Given the description of an element on the screen output the (x, y) to click on. 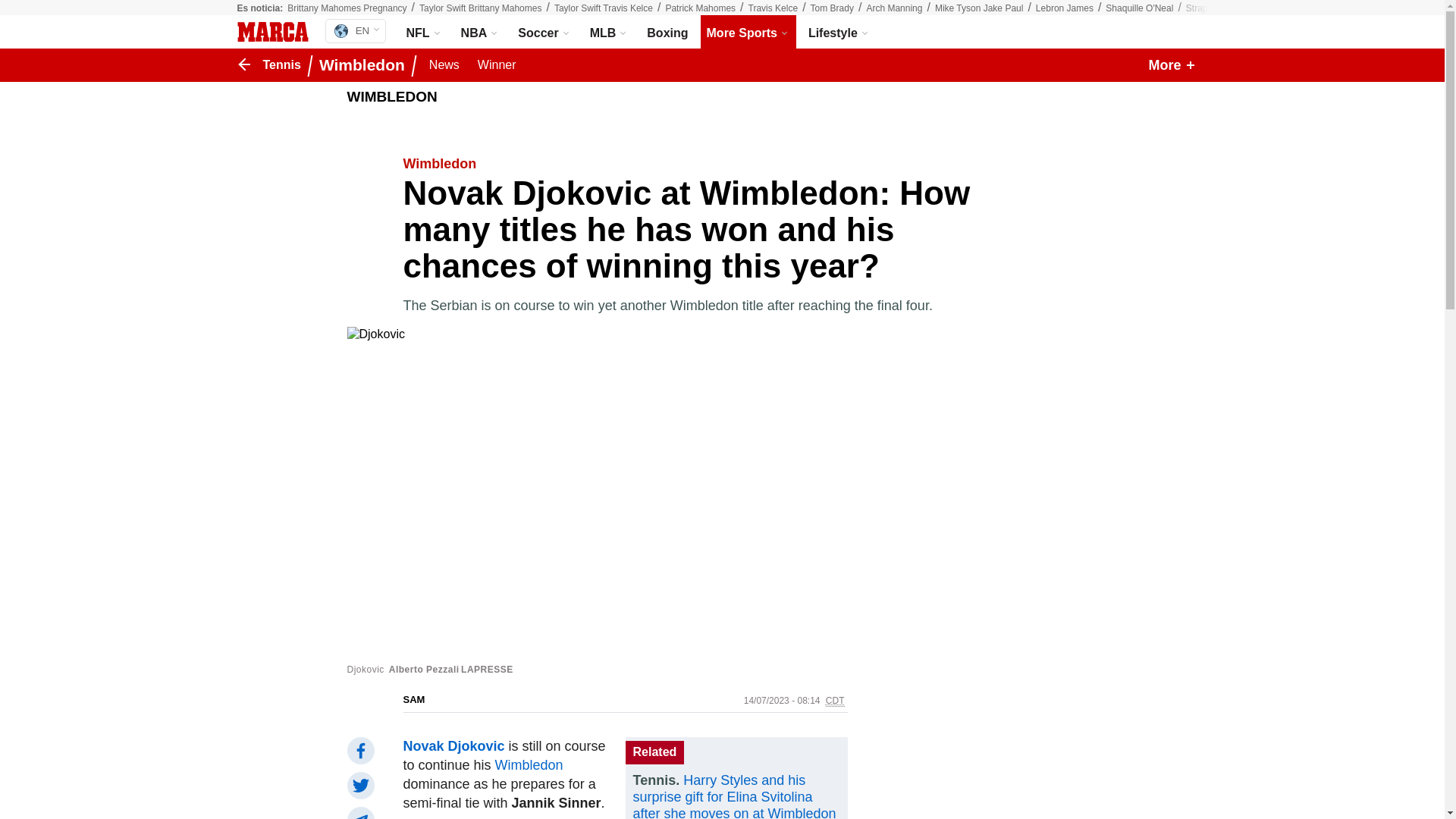
More Sports (748, 31)
Brittany Mahomes Pregnancy (346, 8)
NFL (424, 31)
Travis Kelce (772, 8)
Lebron James (1064, 8)
Shaquille O'Neal (1139, 8)
Boxing (354, 30)
NFL (667, 31)
More Sports (424, 31)
